Given the description of an element on the screen output the (x, y) to click on. 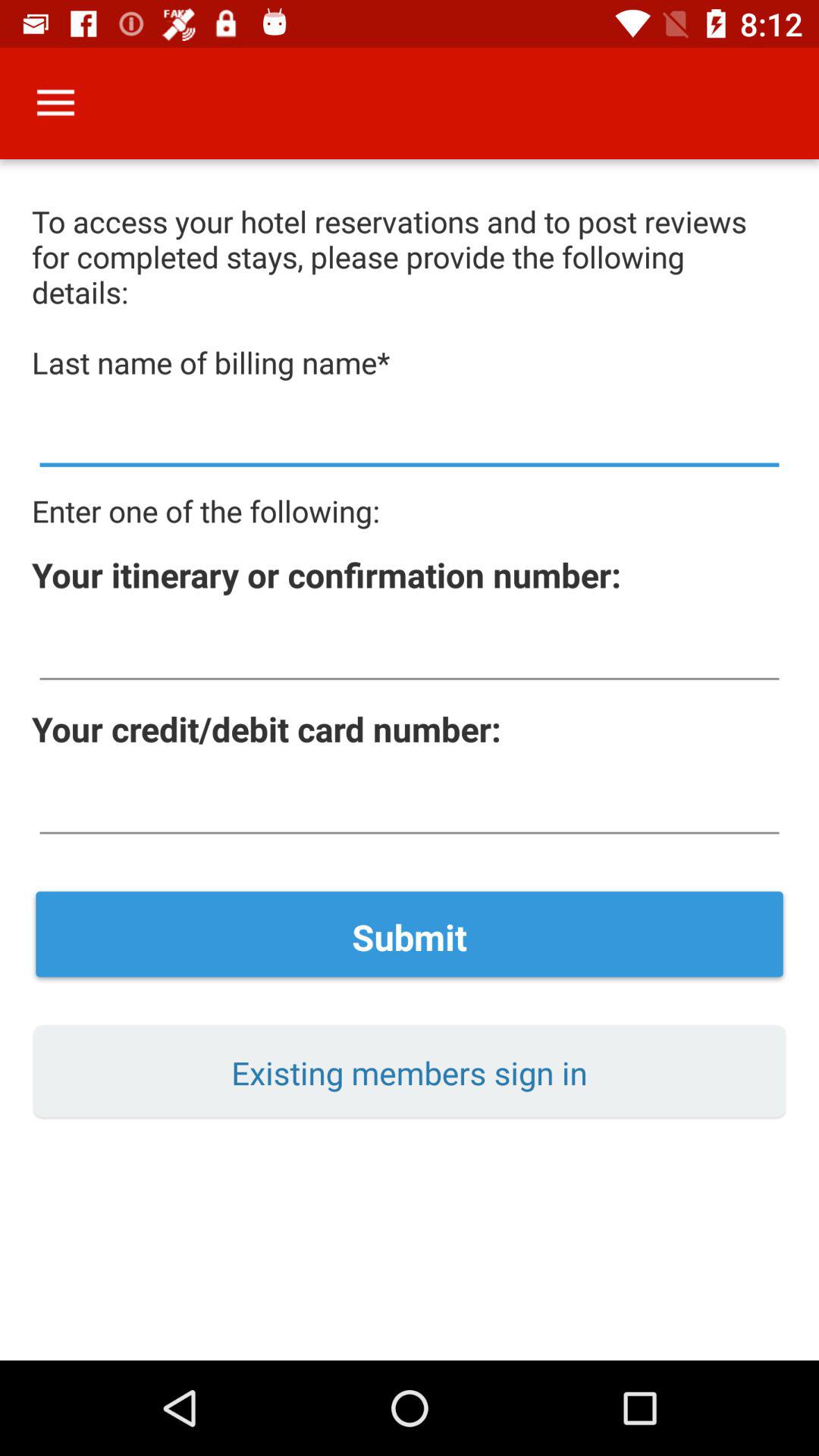
turn off the submit (409, 937)
